Given the description of an element on the screen output the (x, y) to click on. 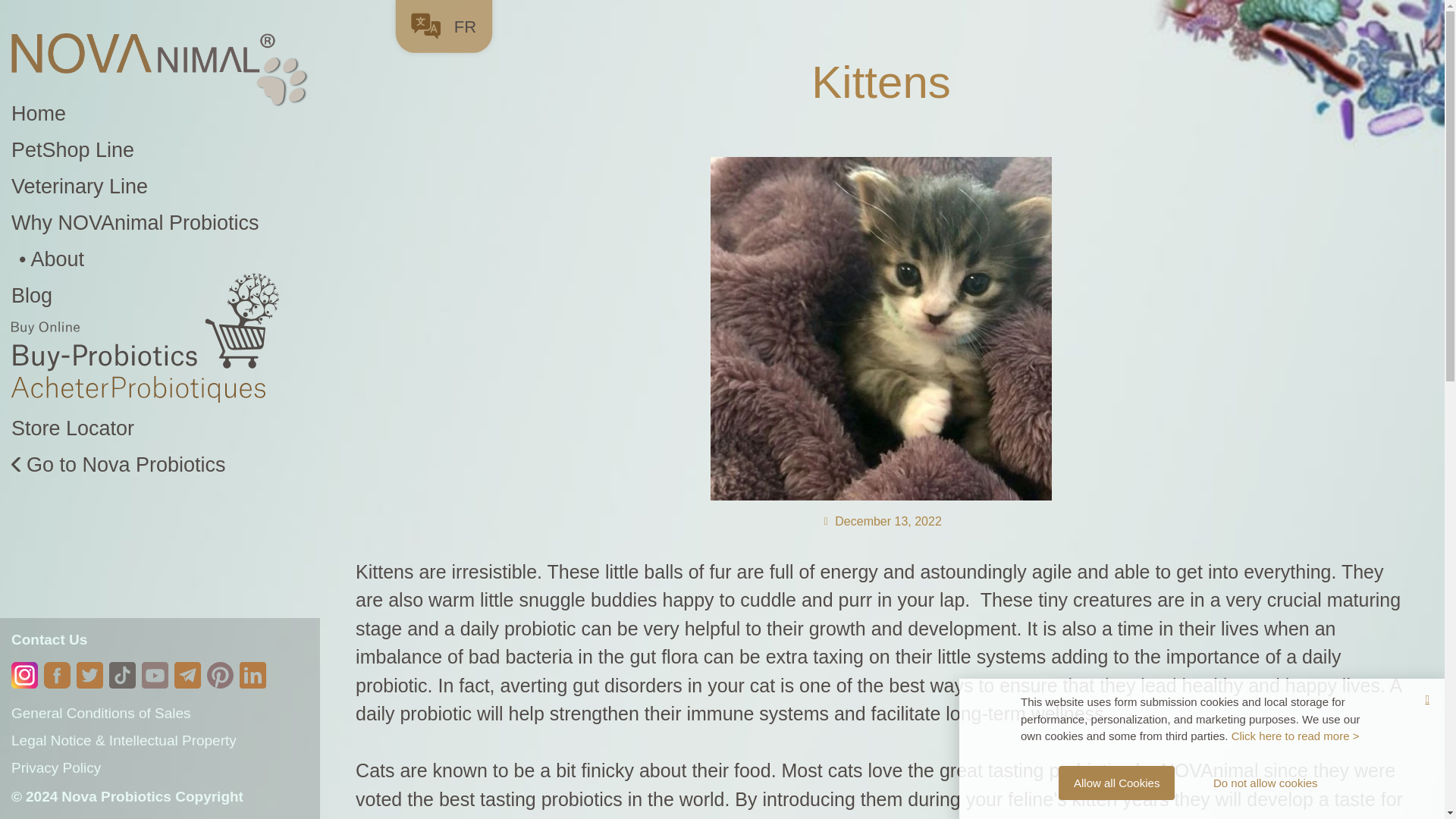
Why NOVAnimal Probiotics (159, 222)
Store Locator (159, 428)
General Conditions of Sales (159, 713)
PetShop Line (159, 149)
December 13, 2022 (881, 521)
Blog (159, 295)
Home (159, 113)
FR (451, 21)
Contact Us (49, 639)
Privacy Policy (159, 768)
